Given the description of an element on the screen output the (x, y) to click on. 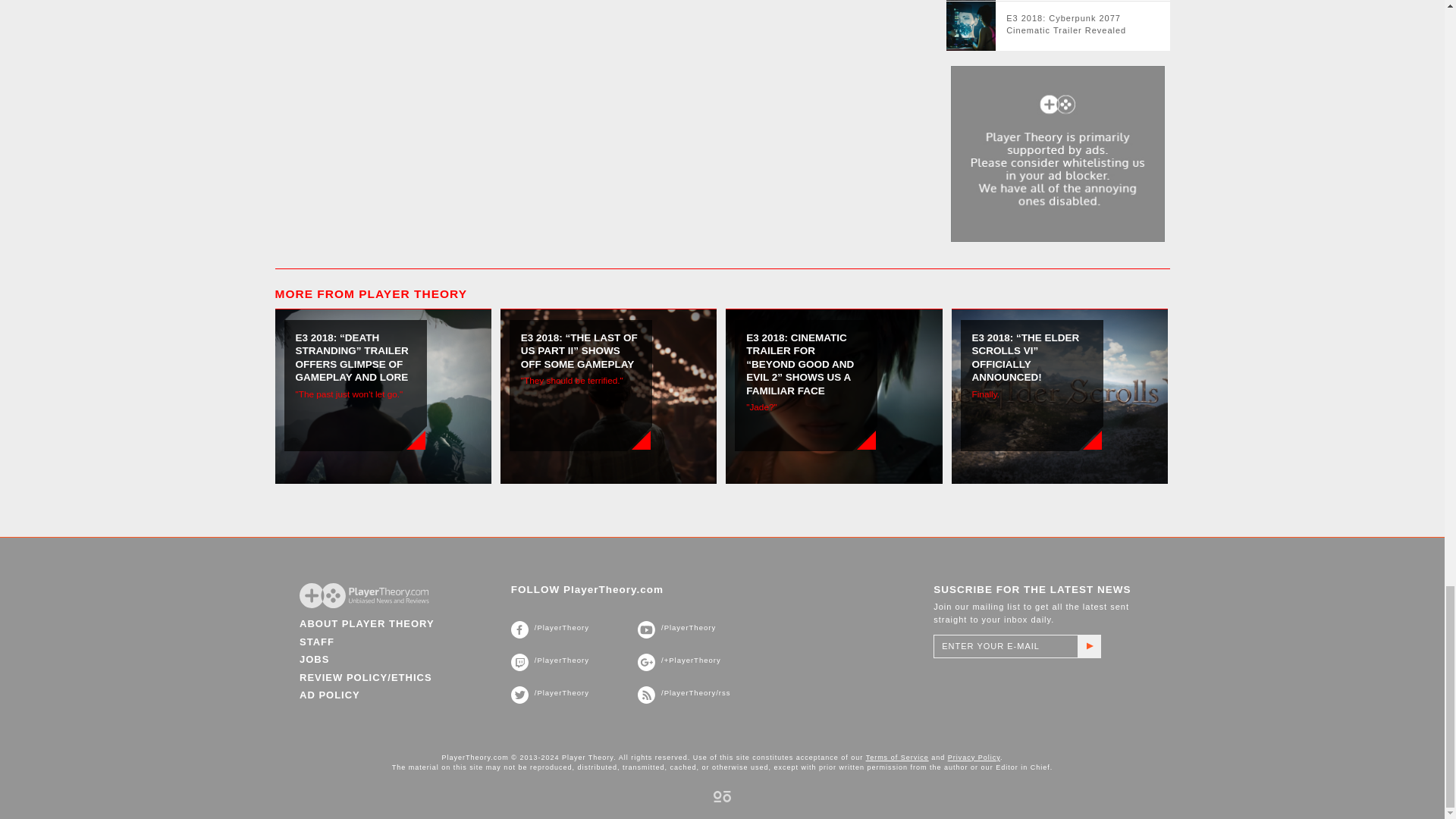
ABOUT PLAYER THEORY (366, 623)
STAFF (316, 641)
JOBS (314, 659)
AD POLICY (329, 695)
